Given the description of an element on the screen output the (x, y) to click on. 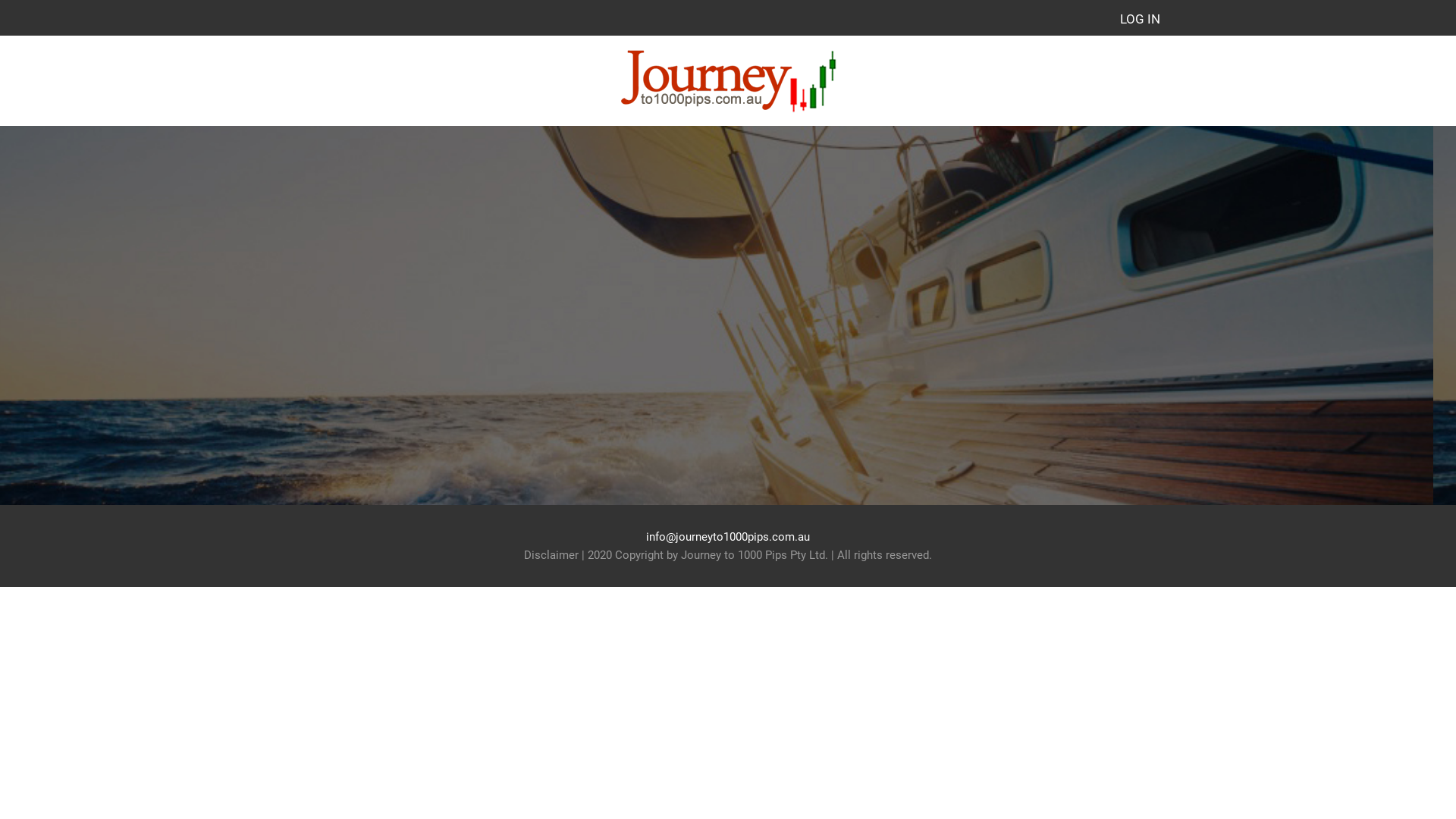
Disclaimer Element type: text (551, 554)
info@journeyto1000pips.com.au Element type: text (727, 536)
LOG IN Element type: text (1140, 18)
